Given the description of an element on the screen output the (x, y) to click on. 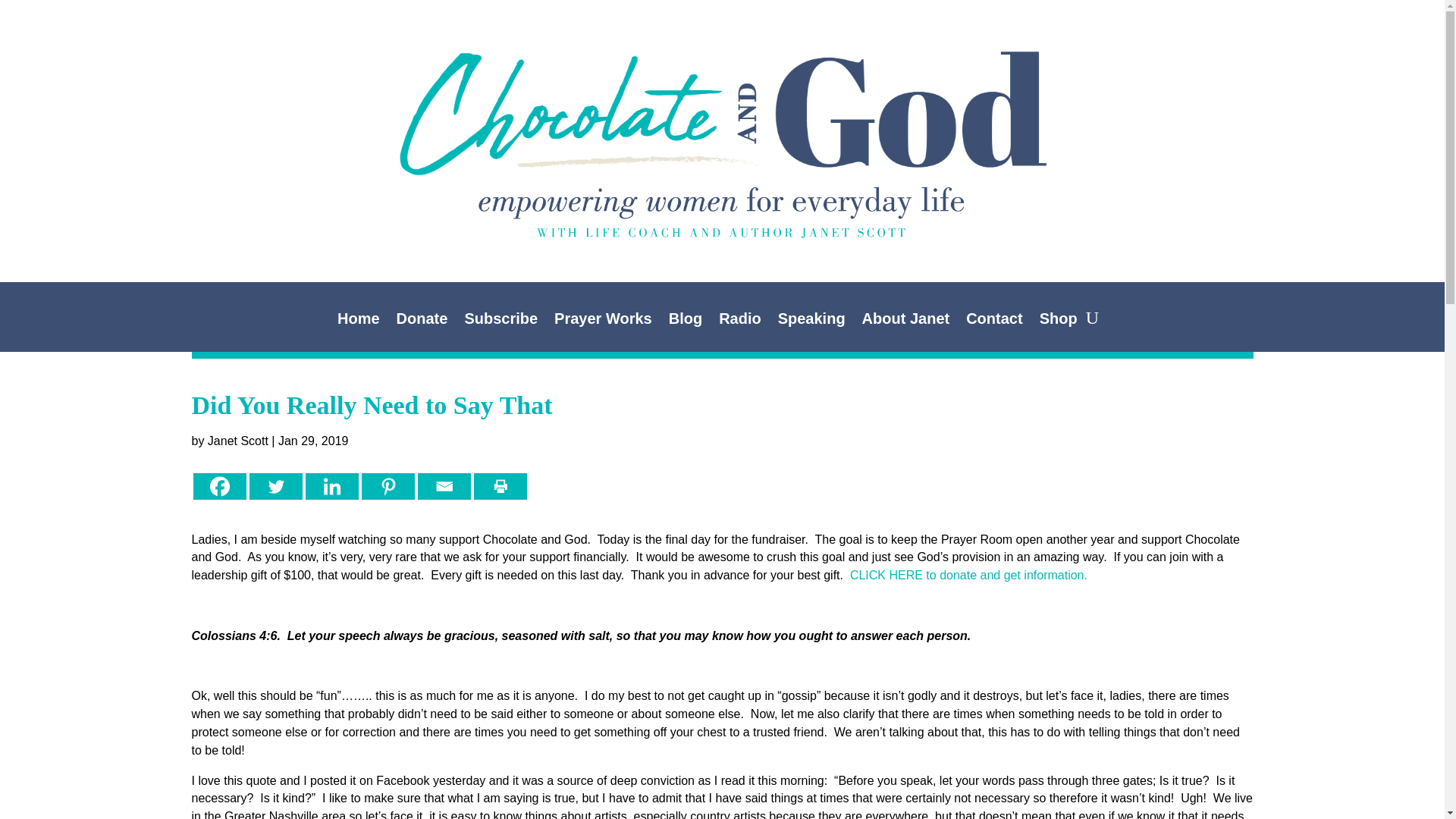
Blog (684, 321)
Posts by Janet Scott (237, 440)
Donate (422, 321)
About Janet (905, 321)
Speaking (811, 321)
Pinterest (387, 486)
Twitter (274, 486)
tagline (722, 212)
CLICK HERE to donate and get information. (968, 574)
Facebook (219, 486)
